Given the description of an element on the screen output the (x, y) to click on. 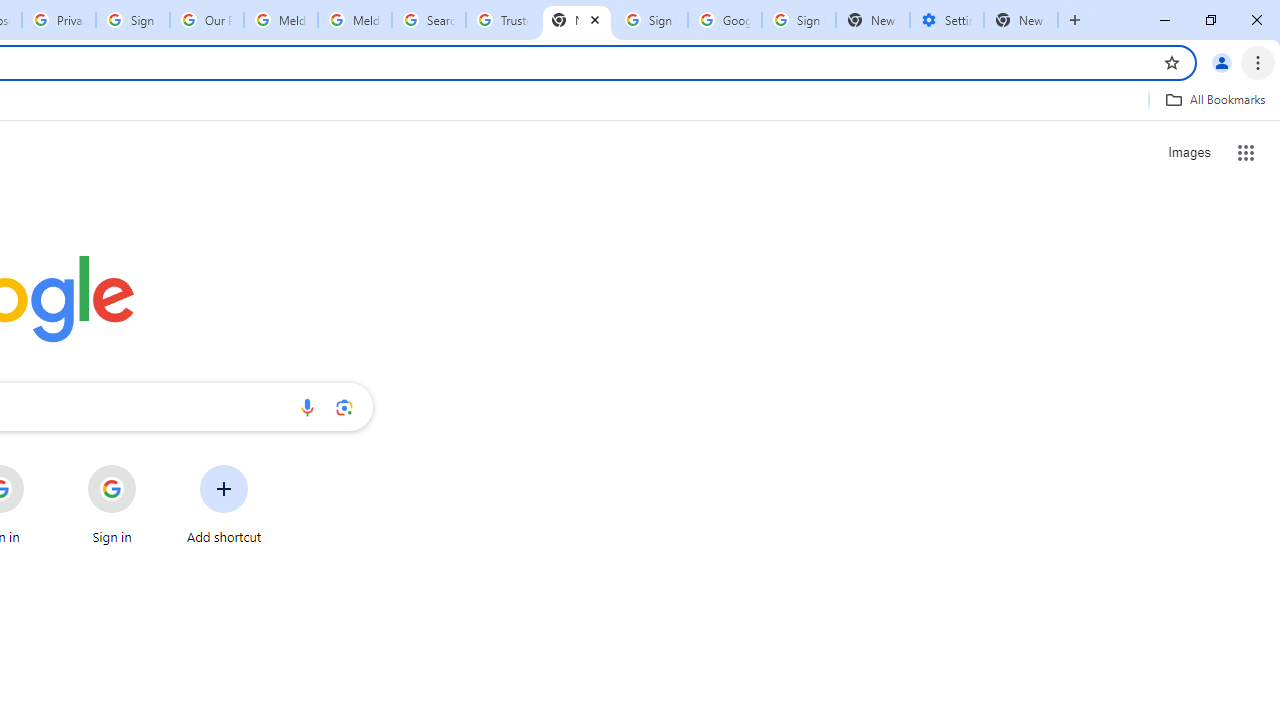
Google Cybersecurity Innovations - Google Safety Center (724, 20)
Add shortcut (223, 504)
Trusted Information and Content - Google Safety Center (502, 20)
New Tab (1021, 20)
Search our Doodle Library Collection - Google Doodles (428, 20)
Sign in - Google Accounts (133, 20)
More actions for Sign in shortcut (152, 466)
